Given the description of an element on the screen output the (x, y) to click on. 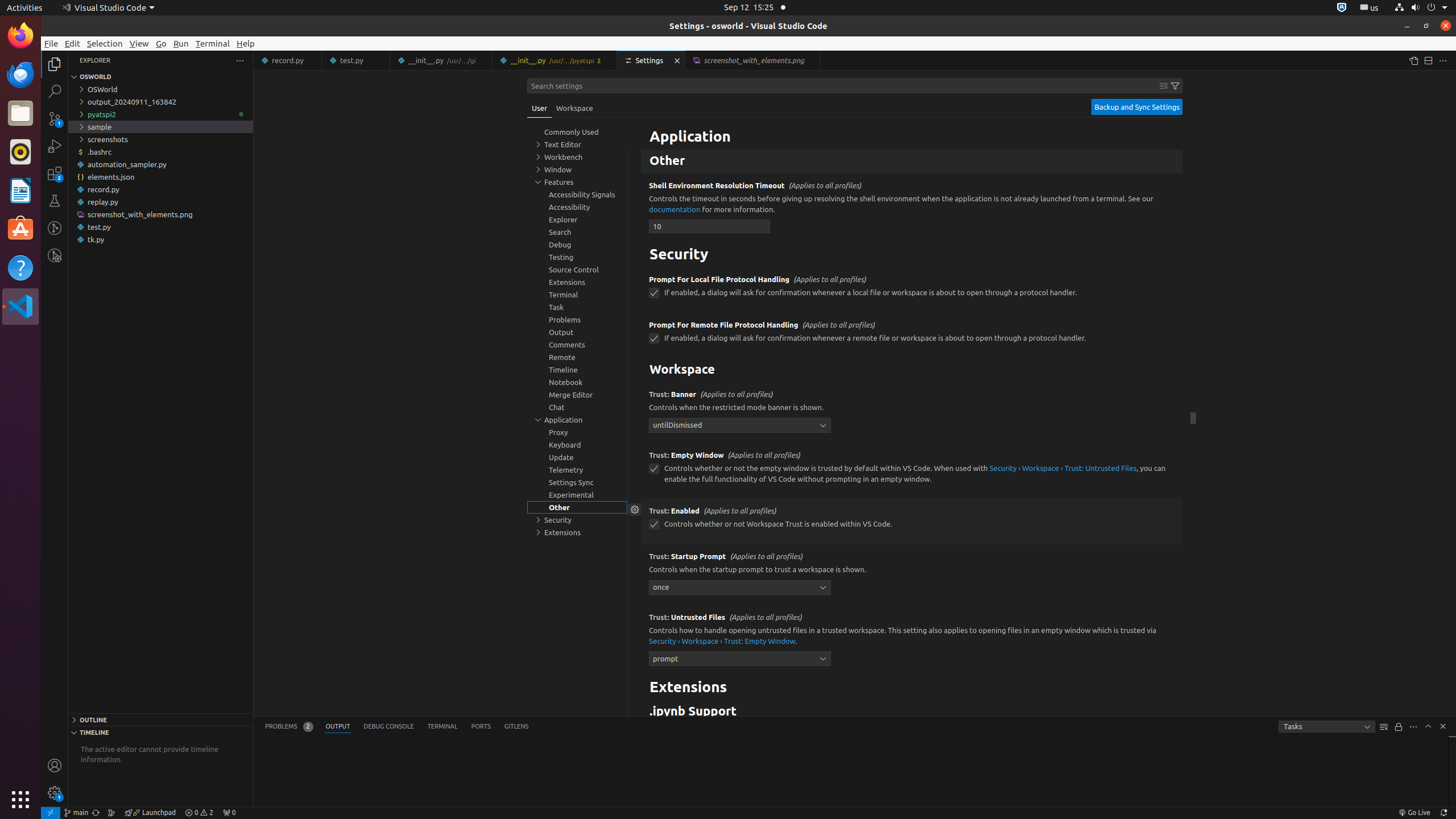
Backup and Sync Settings Element type: push-button (1136, 106)
Window, group Element type: tree-item (577, 169)
Settings Sync, group Element type: tree-item (577, 482)
Extensions, group Element type: tree-item (577, 532)
